Given the description of an element on the screen output the (x, y) to click on. 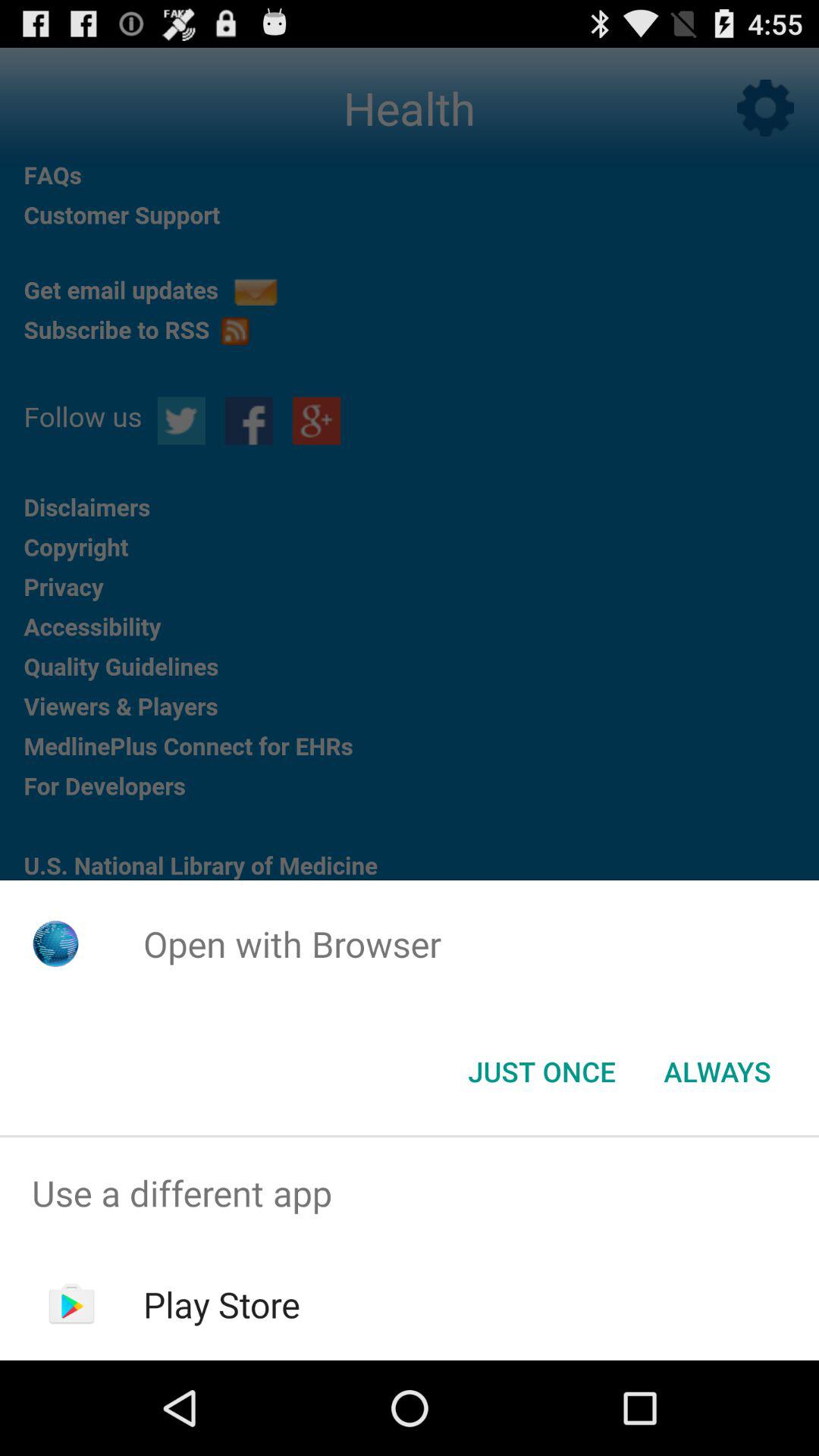
launch just once icon (541, 1071)
